Given the description of an element on the screen output the (x, y) to click on. 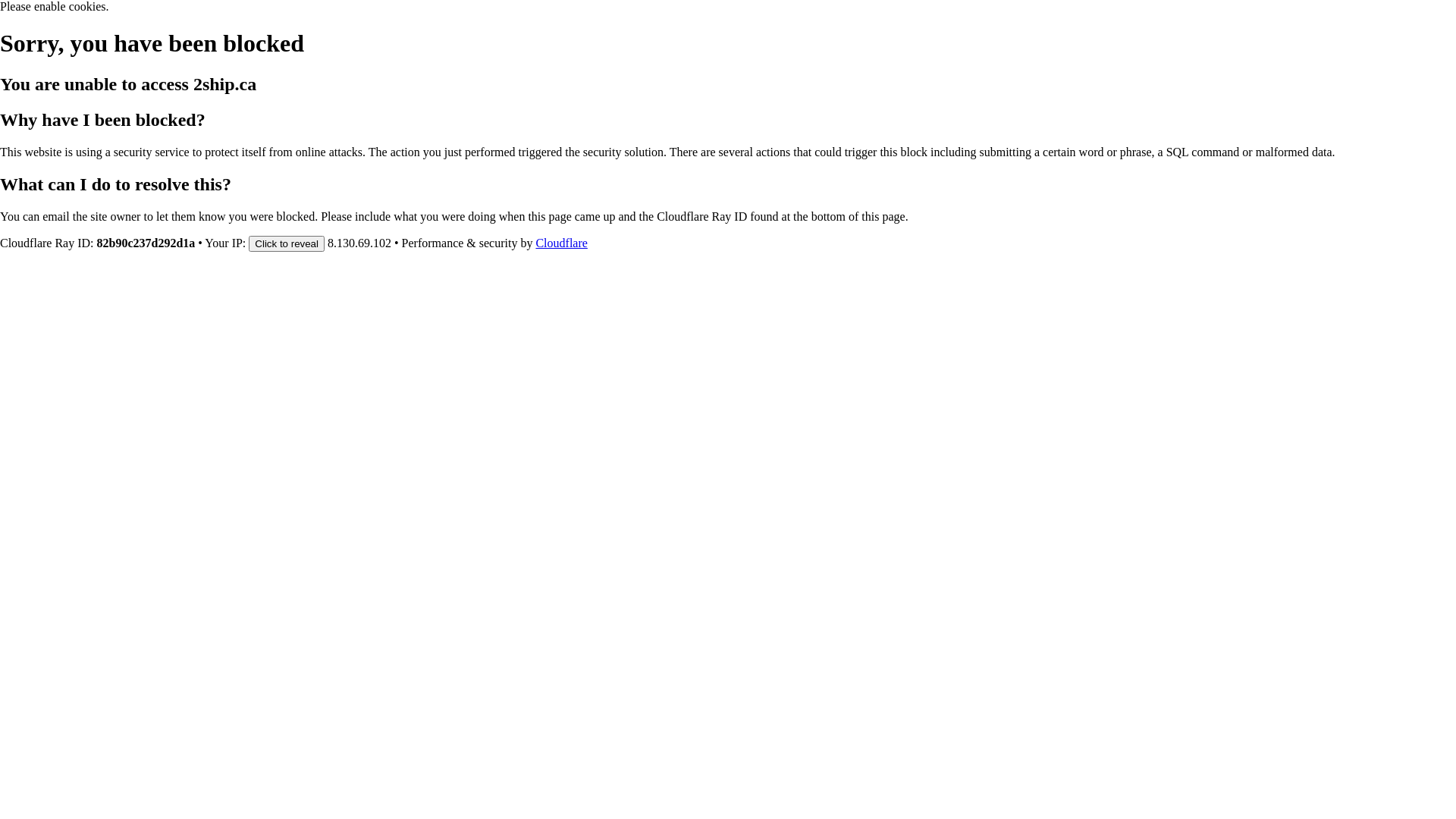
Cloudflare Element type: text (560, 242)
Click to reveal Element type: text (286, 243)
